Given the description of an element on the screen output the (x, y) to click on. 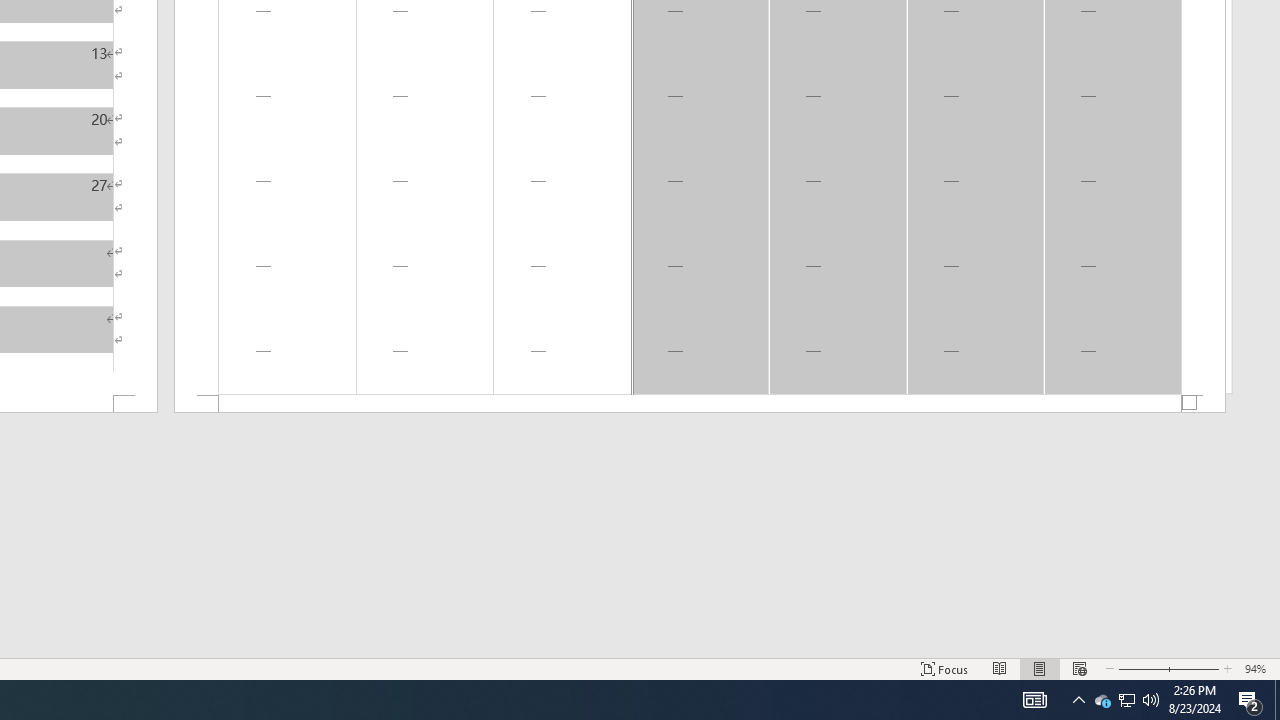
Footer -Section 1- (700, 404)
